Given the description of an element on the screen output the (x, y) to click on. 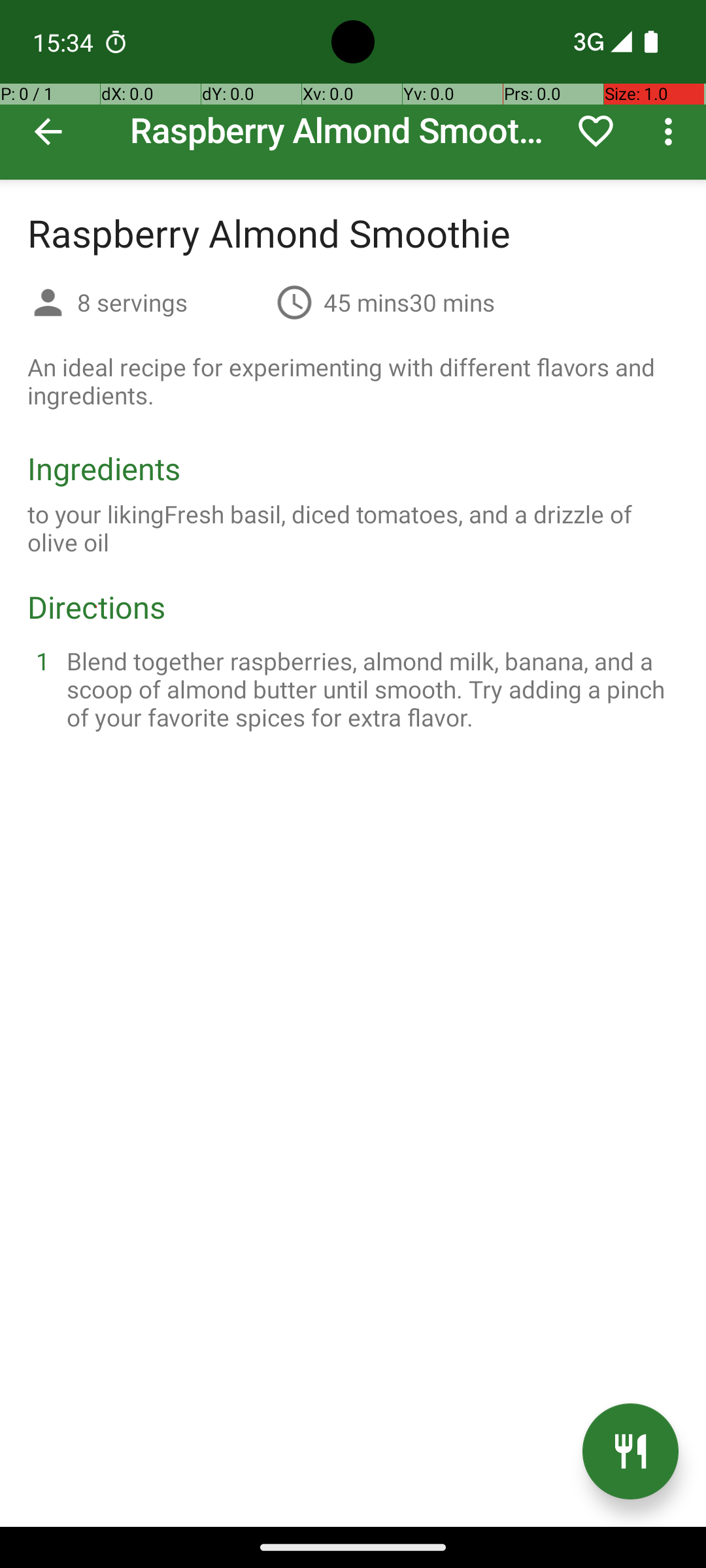
45 mins30 mins Element type: android.widget.TextView (408, 301)
to your likingFresh basil, diced tomatoes, and a drizzle of olive oil Element type: android.widget.TextView (352, 527)
Blend together raspberries, almond milk, banana, and a scoop of almond butter until smooth. Try adding a pinch of your favorite spices for extra flavor. Element type: android.widget.TextView (368, 688)
